Given the description of an element on the screen output the (x, y) to click on. 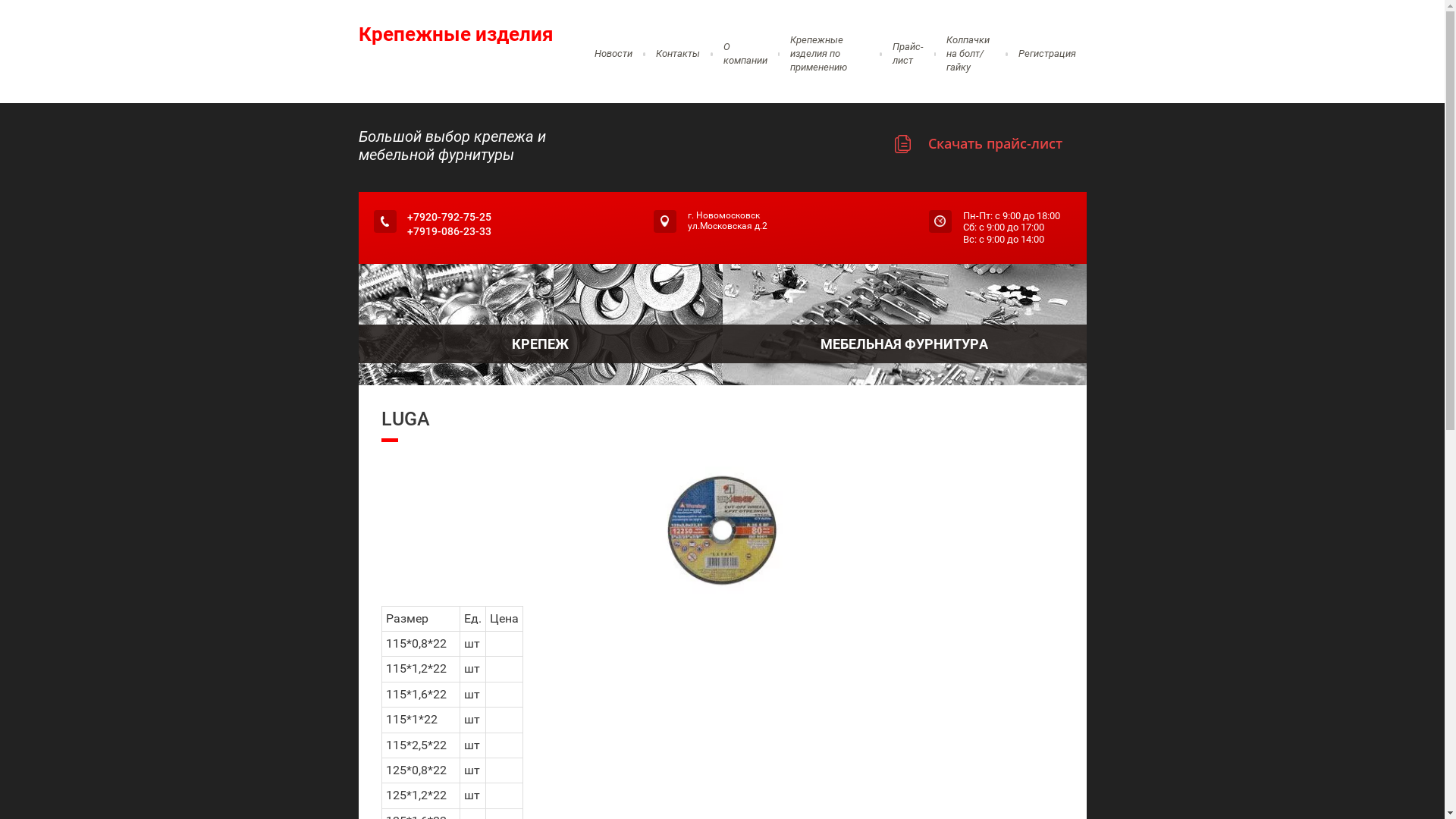
+7919-086-23-33 Element type: text (448, 231)
+7920-792-75-25 Element type: text (448, 216)
